Given the description of an element on the screen output the (x, y) to click on. 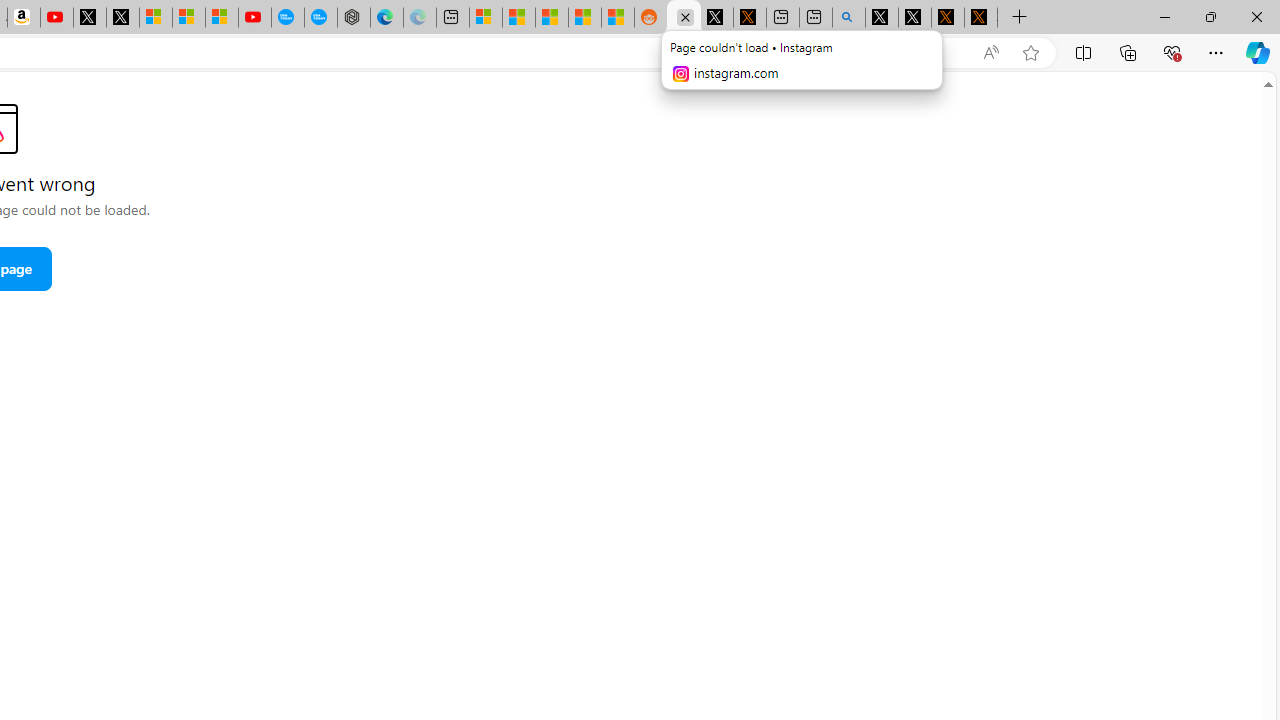
The most popular Google 'how to' searches (320, 17)
Gloom - YouTube (255, 17)
Opinion: Op-Ed and Commentary - USA TODAY (287, 17)
Microsoft account | Microsoft Account Privacy Settings (485, 17)
Shanghai, China Weather trends | Microsoft Weather (617, 17)
GitHub (@github) / X (914, 17)
